Given the description of an element on the screen output the (x, y) to click on. 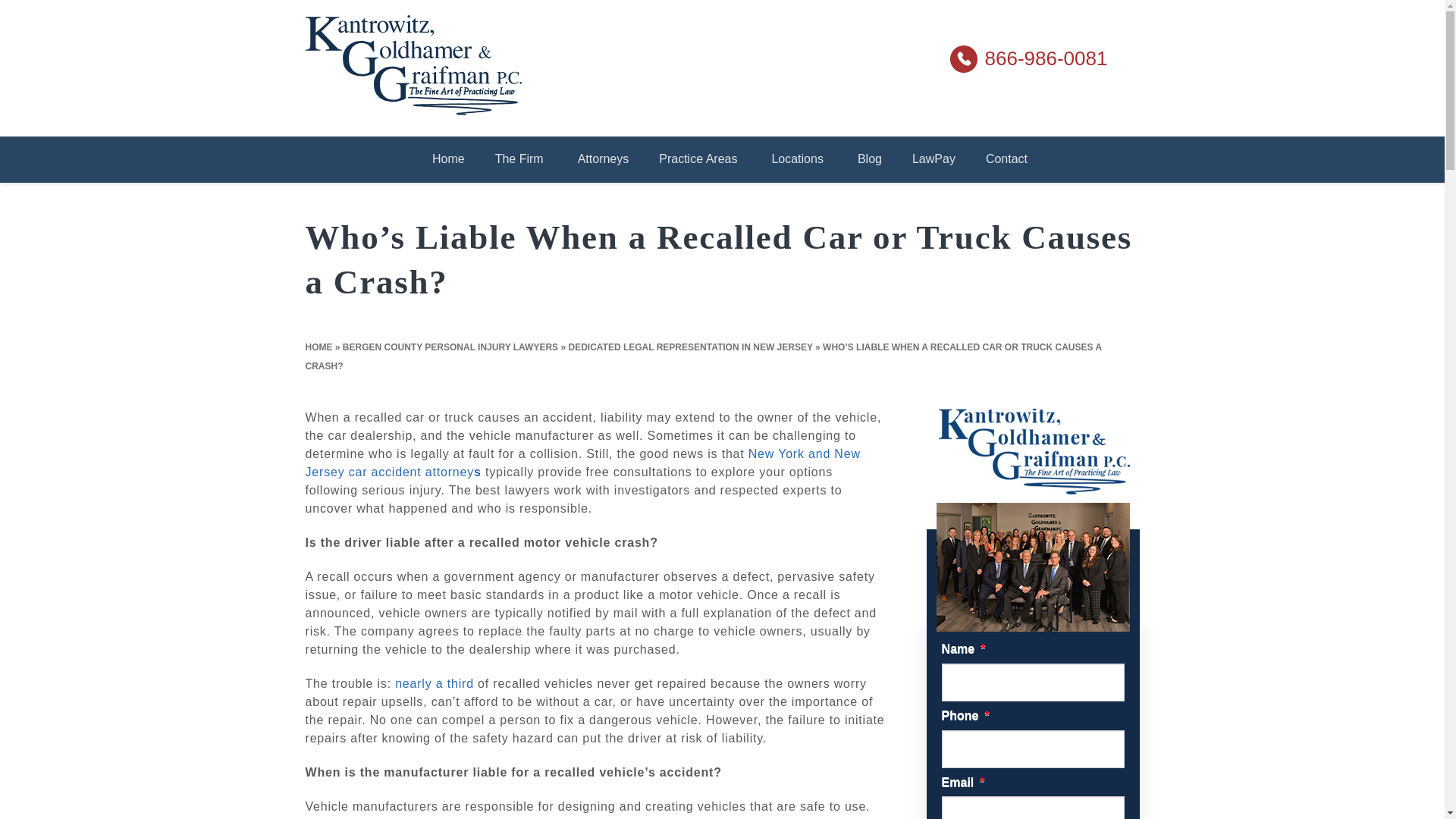
The Firm (521, 159)
Home (448, 159)
Practice Areas (699, 159)
Attorneys (603, 159)
